Given the description of an element on the screen output the (x, y) to click on. 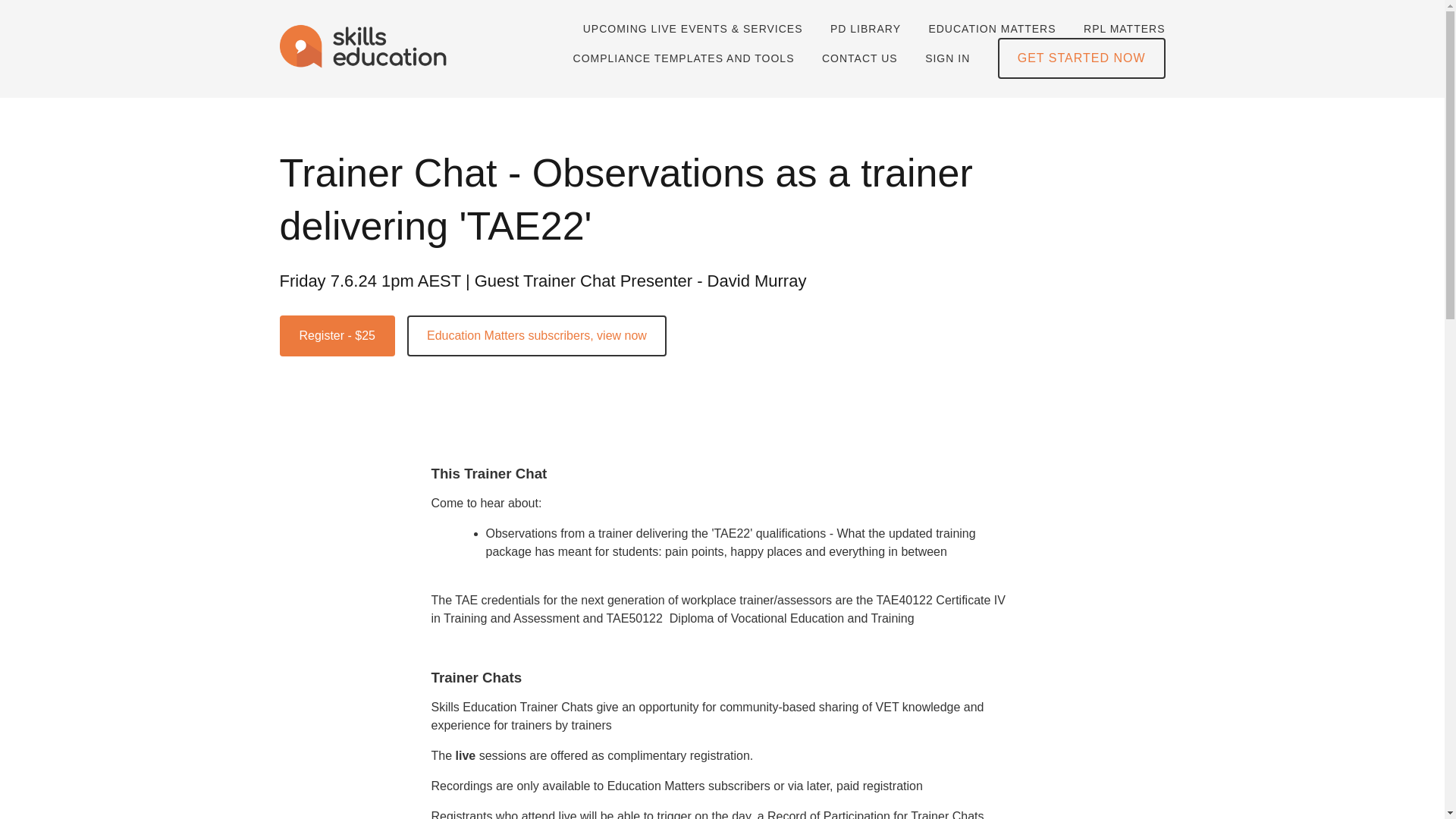
Skills Education (363, 48)
Education Matters subscribers, view now (536, 335)
PD LIBRARY (865, 28)
GET STARTED NOW (1081, 57)
RPL MATTERS (1123, 28)
SIGN IN (946, 58)
COMPLIANCE TEMPLATES AND TOOLS (683, 58)
CONTACT US (860, 58)
EDUCATION MATTERS (991, 28)
